Given the description of an element on the screen output the (x, y) to click on. 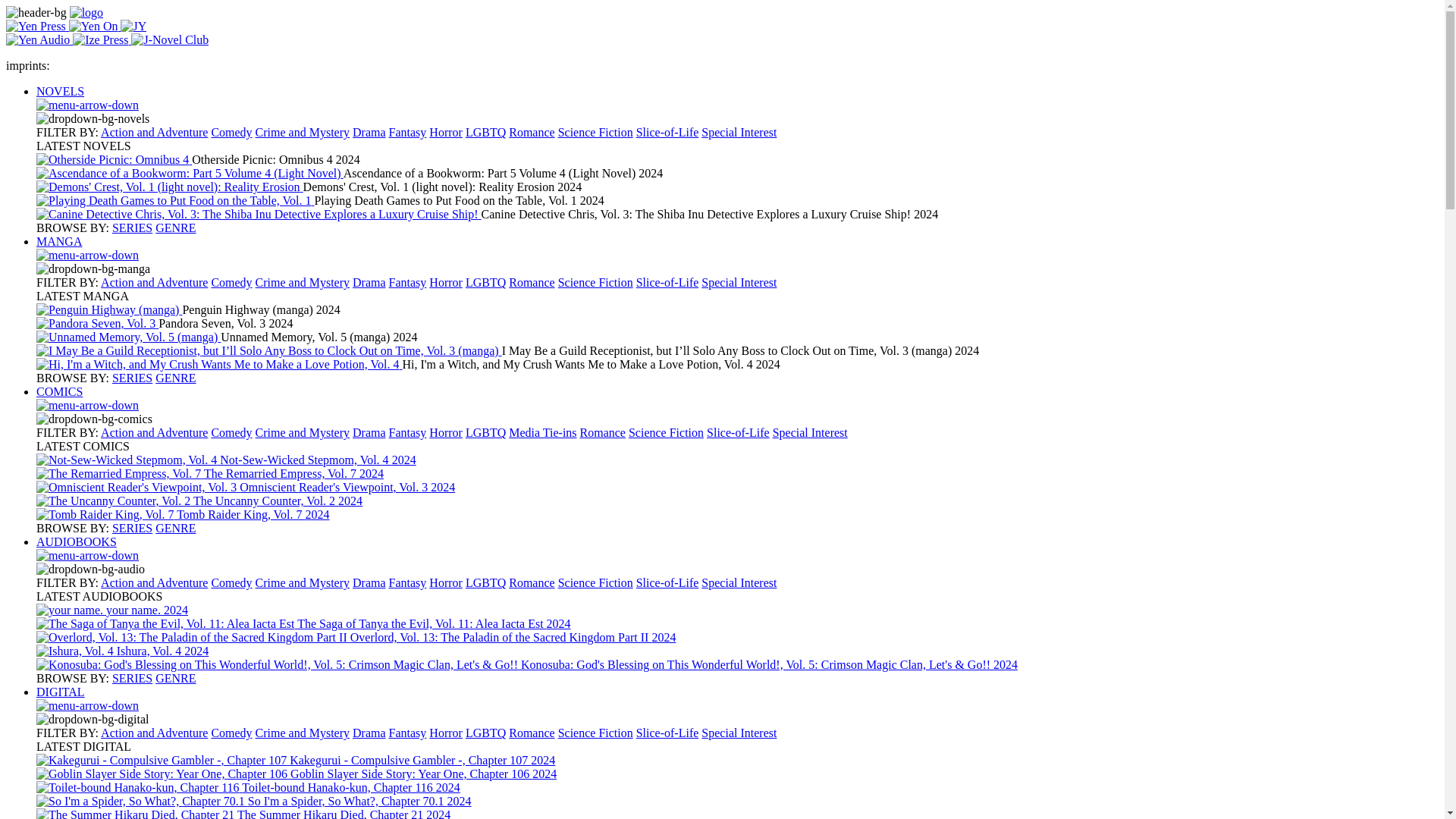
Action and Adventure (154, 132)
Slice-of-Life (667, 132)
Crime and Mystery (302, 282)
Romance (531, 282)
GENRE (175, 227)
Fantasy (407, 132)
Action and Adventure (154, 282)
Drama (368, 132)
Horror (446, 132)
LGBTQ (485, 132)
Science Fiction (595, 132)
Comedy (231, 282)
Special Interest (738, 282)
Romance (531, 132)
Special Interest (738, 132)
